Given the description of an element on the screen output the (x, y) to click on. 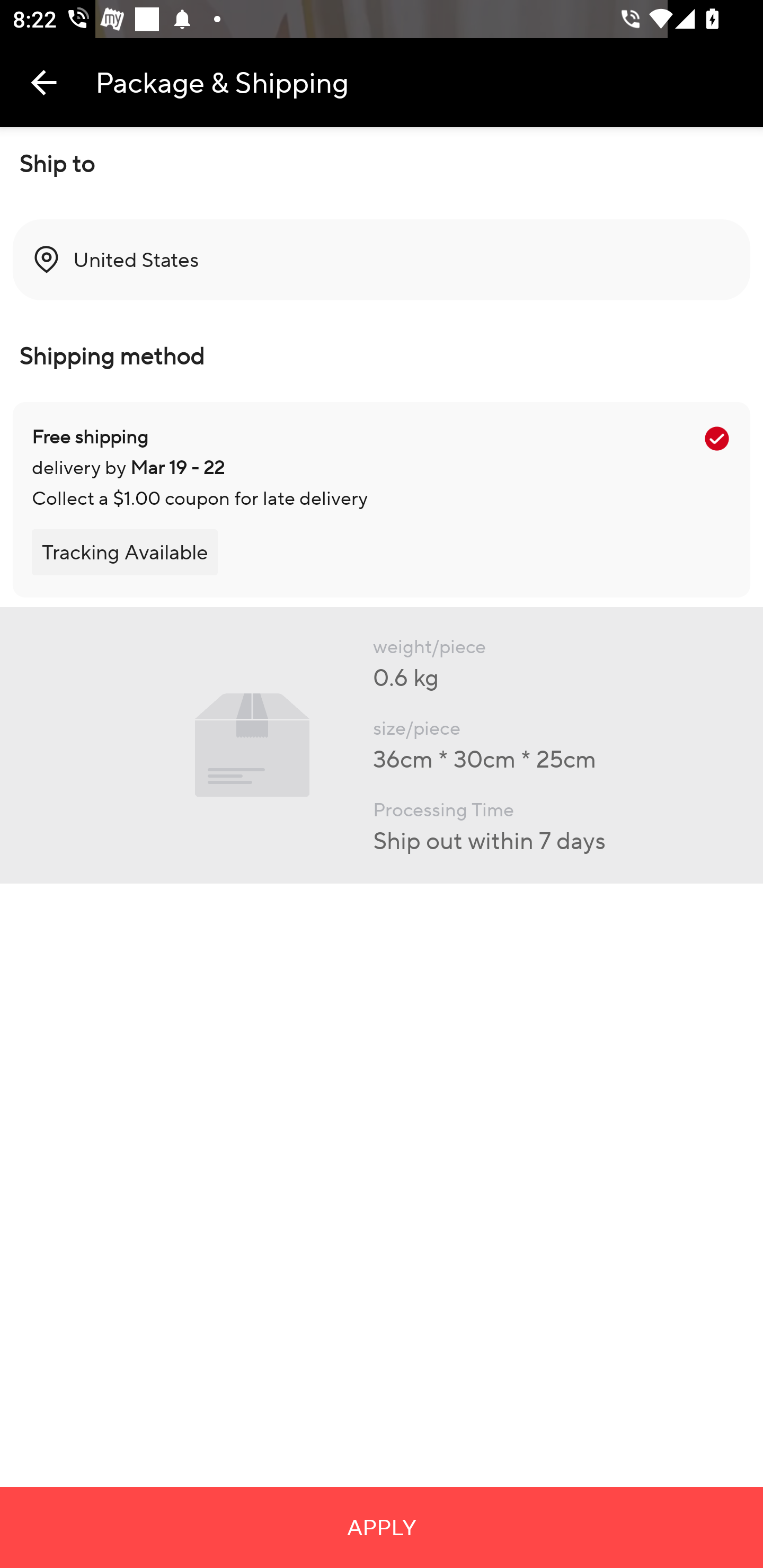
 United States (381, 260)
APPLY (381, 1527)
